Given the description of an element on the screen output the (x, y) to click on. 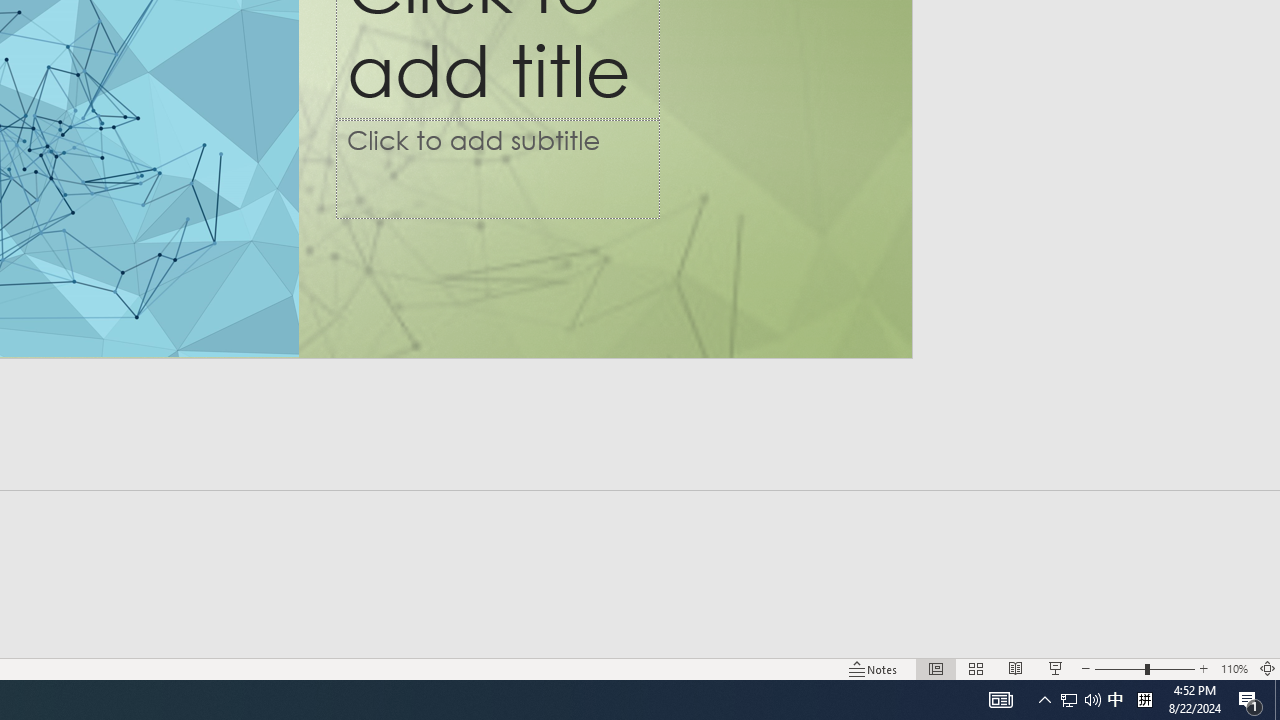
Zoom 110% (1234, 668)
